Given the description of an element on the screen output the (x, y) to click on. 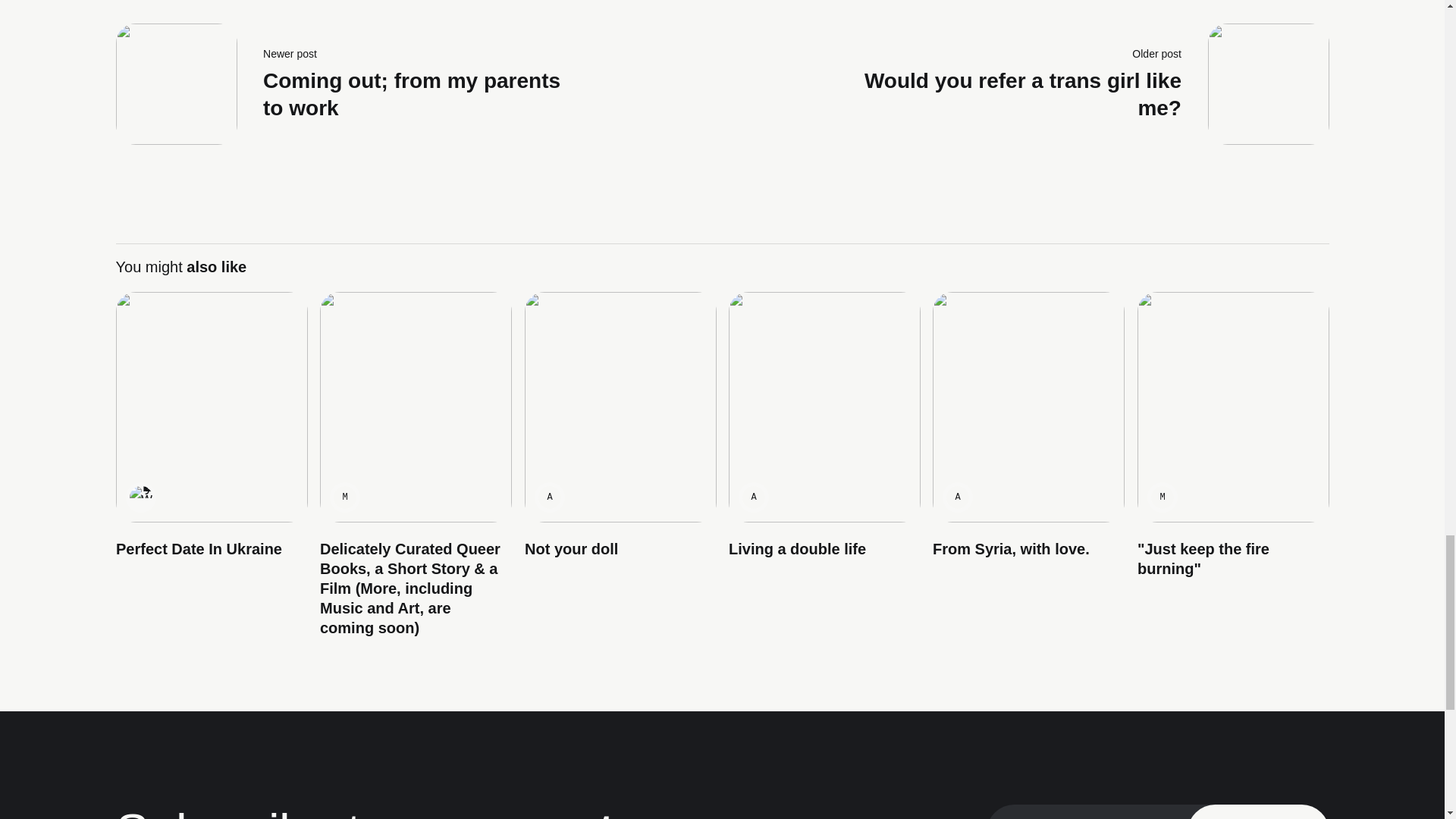
From Syria, with love. (1011, 548)
Not your doll (570, 548)
Anonymous (752, 497)
Living a double life (796, 548)
Anonymous (548, 497)
Anonymous (957, 497)
Ilya Kharkow (140, 497)
Subscribe (1258, 811)
"Just keep the fire burning" (357, 83)
